Given the description of an element on the screen output the (x, y) to click on. 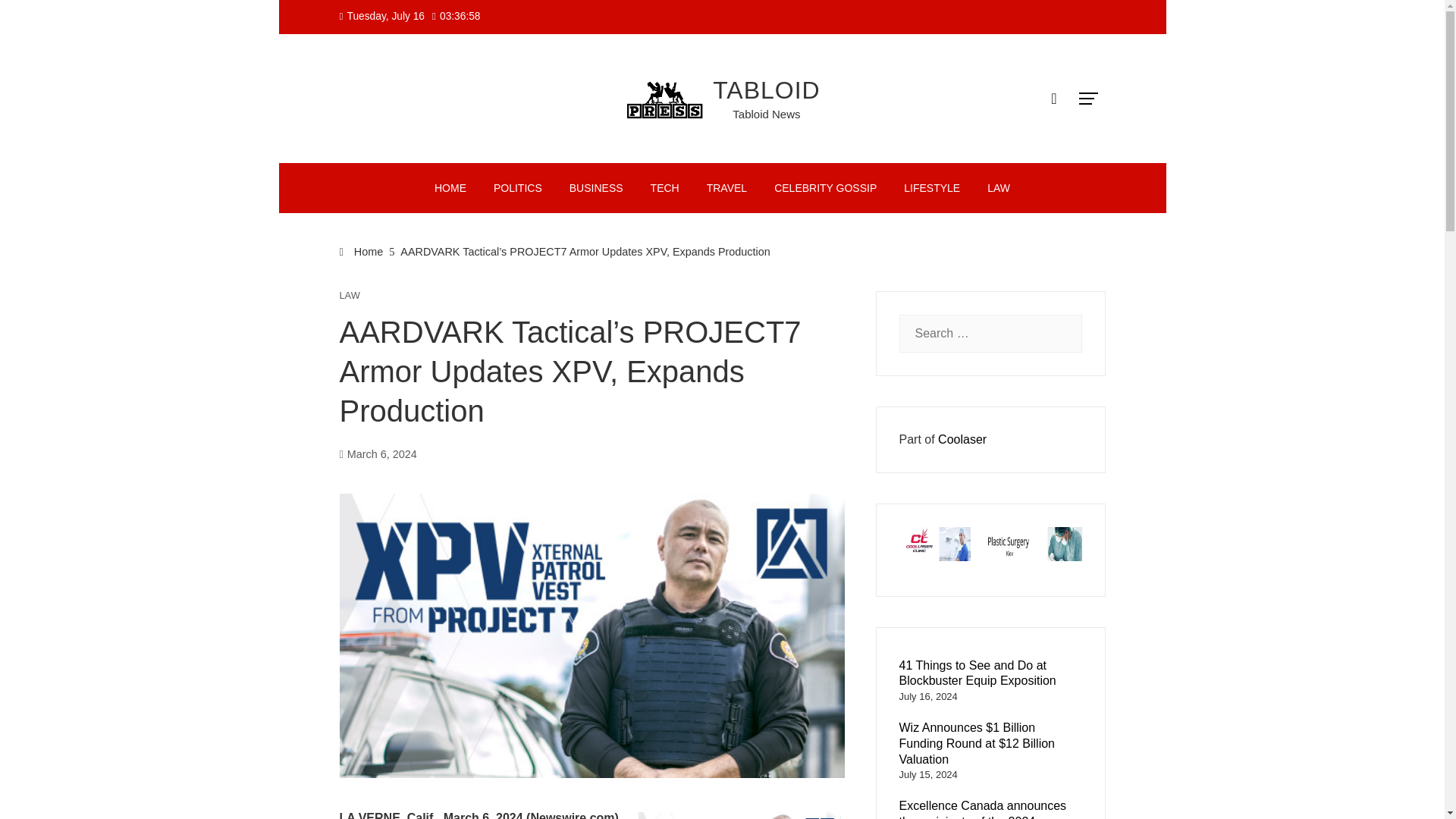
Home (361, 251)
Search (38, 18)
POLITICS (517, 187)
HOME (450, 187)
BUSINESS (595, 187)
LAW (998, 187)
TRAVEL (726, 187)
CELEBRITY GOSSIP (825, 187)
LAW (349, 296)
Tabloid News (765, 113)
TABLOID (767, 89)
TECH (664, 187)
Coolaser (962, 439)
LIFESTYLE (931, 187)
